Given the description of an element on the screen output the (x, y) to click on. 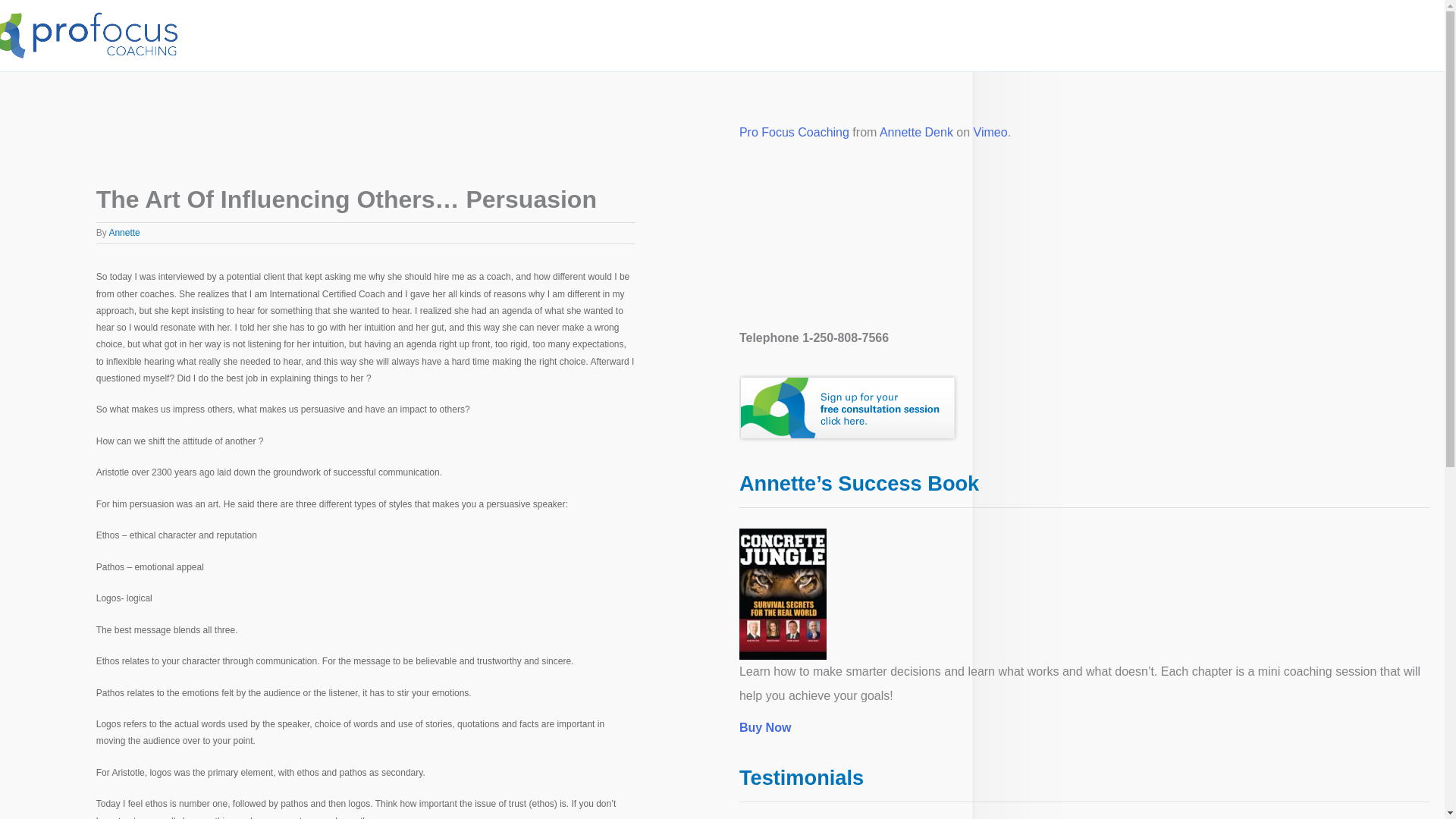
Real Estate Coaching (1248, 35)
Home (939, 35)
Business-Coaching-book-annette (783, 594)
About (992, 35)
Contact (1407, 35)
Life Coaching (1346, 35)
View all posts by annette (123, 232)
